Given the description of an element on the screen output the (x, y) to click on. 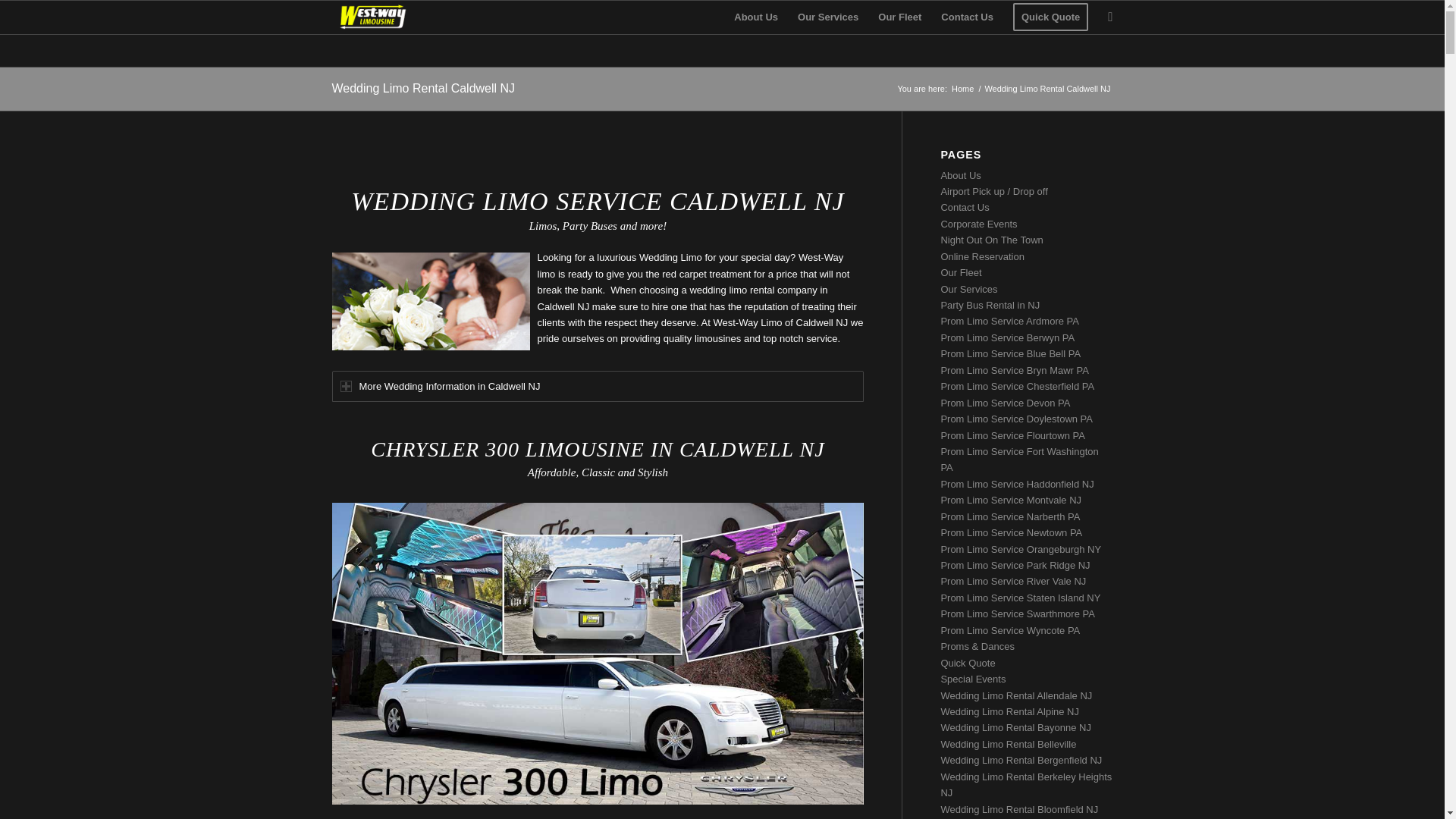
Permanent Link: Wedding Limo Rental Caldwell NJ (423, 88)
Home (962, 89)
Our Services (827, 17)
Contact Us (967, 17)
Our Fleet (899, 17)
Night Out On The Town (991, 239)
About Us (755, 17)
About Us (959, 174)
Wedding Limo Rental Caldwell NJ (423, 88)
Corporate Events (978, 224)
